Given the description of an element on the screen output the (x, y) to click on. 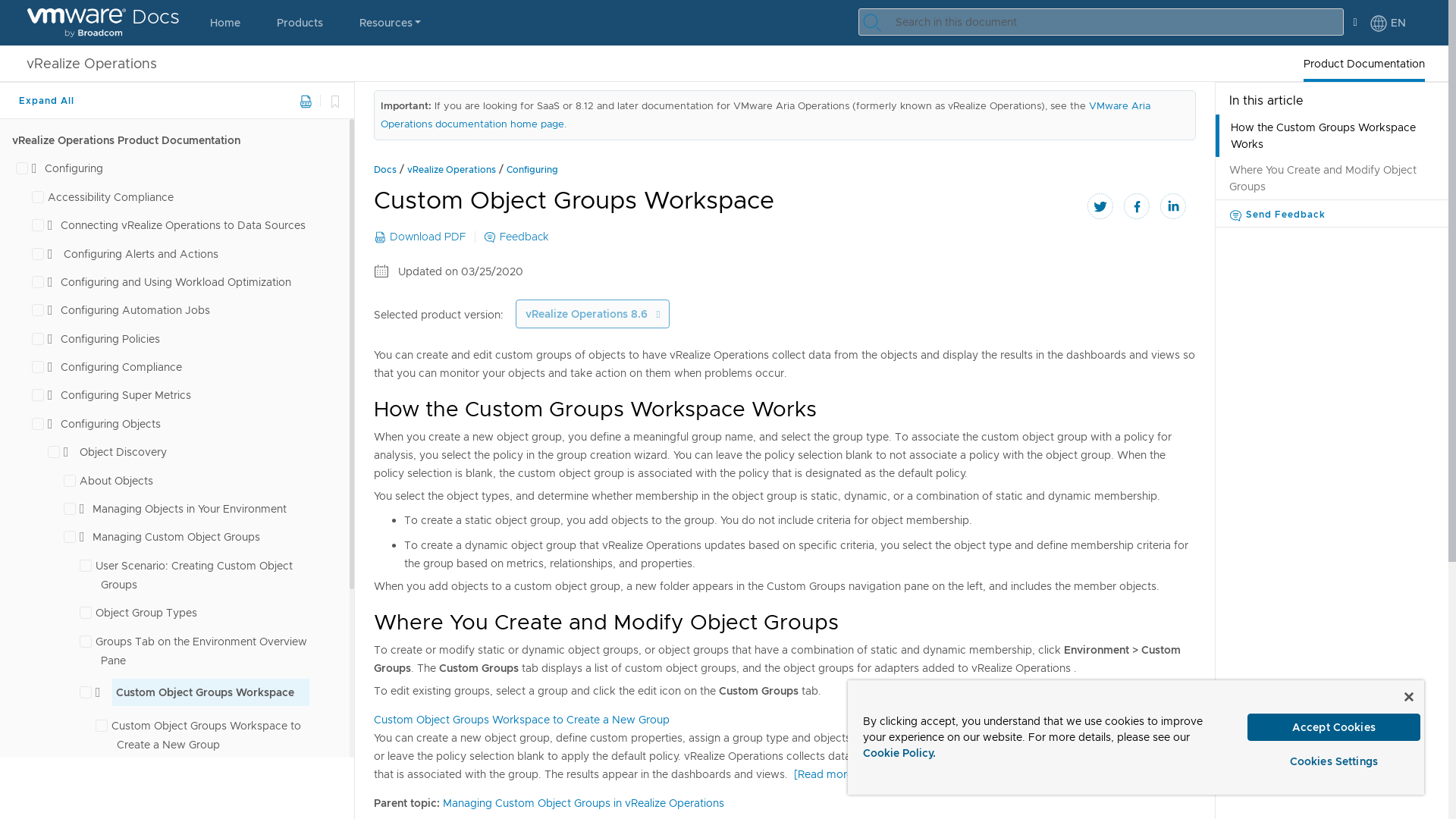
Add selected to MyLibrary (333, 100)
Docs (103, 22)
Home (225, 22)
Resources (389, 22)
Download PDF (305, 101)
Products (299, 22)
